Given the description of an element on the screen output the (x, y) to click on. 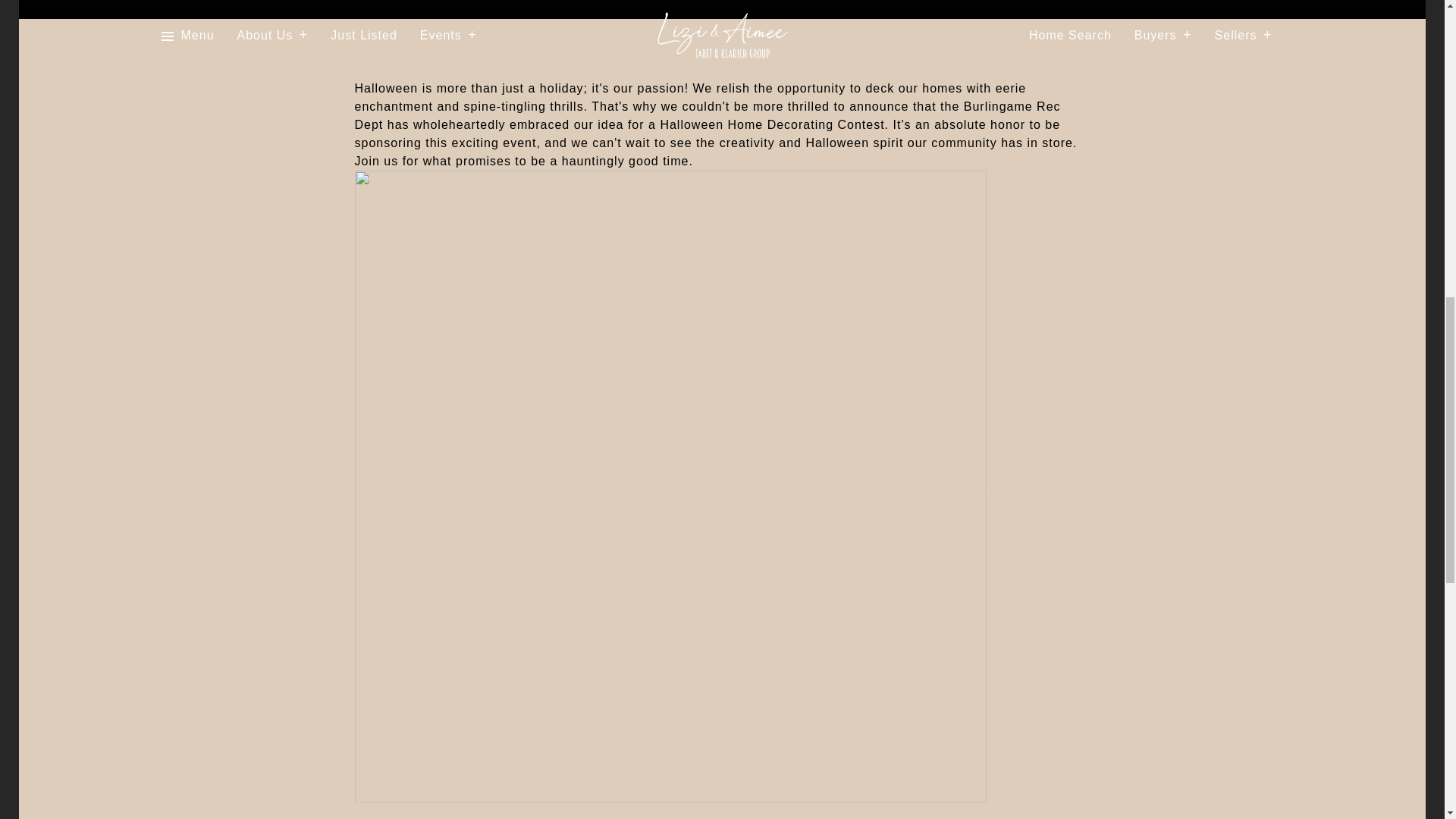
Burlingame Halloween Home Decorating Contest (671, 486)
